Given the description of an element on the screen output the (x, y) to click on. 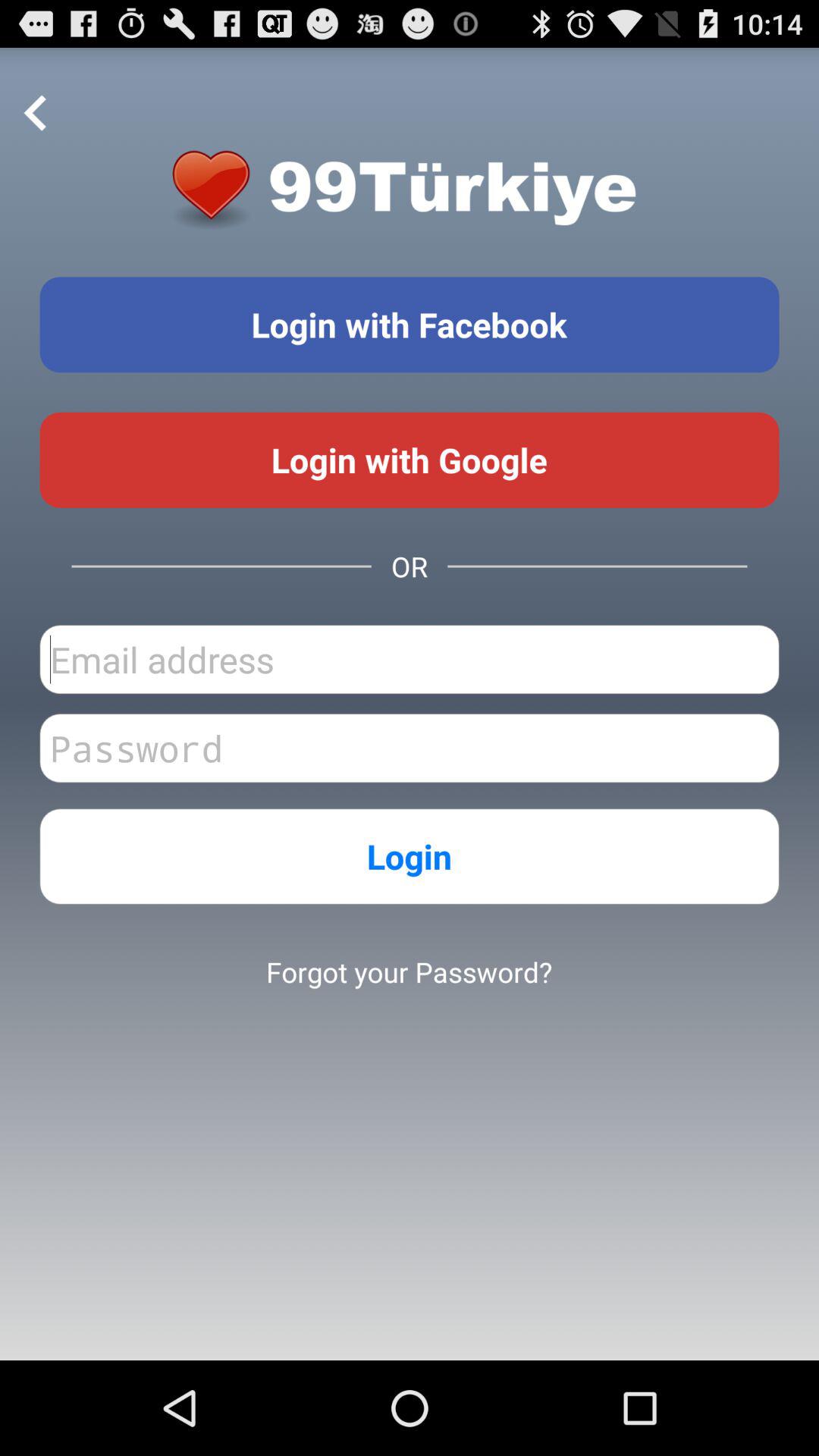
click button below the login icon (409, 971)
